Given the description of an element on the screen output the (x, y) to click on. 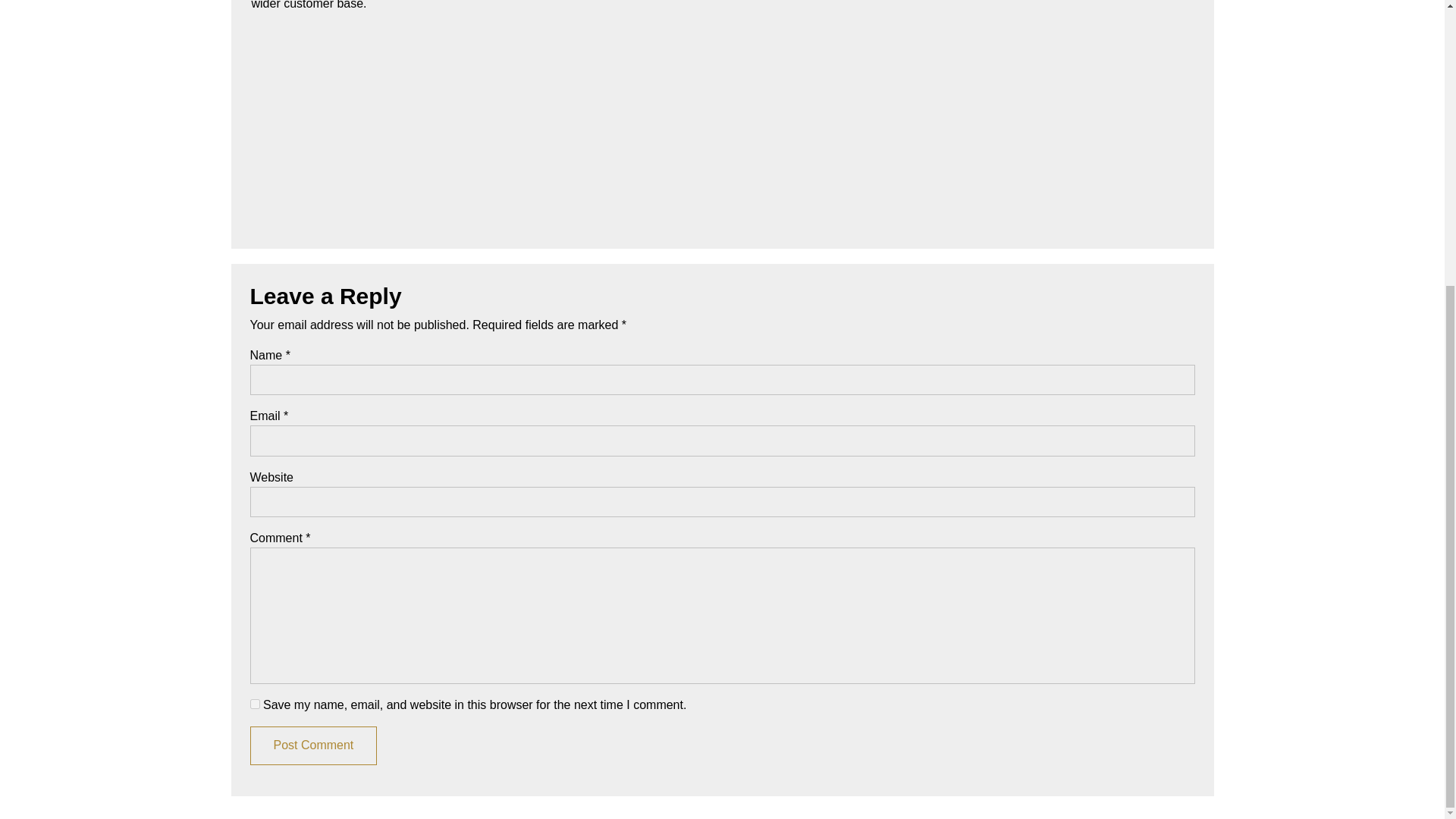
Post Comment (313, 745)
Post Comment (313, 745)
yes (255, 704)
